Given the description of an element on the screen output the (x, y) to click on. 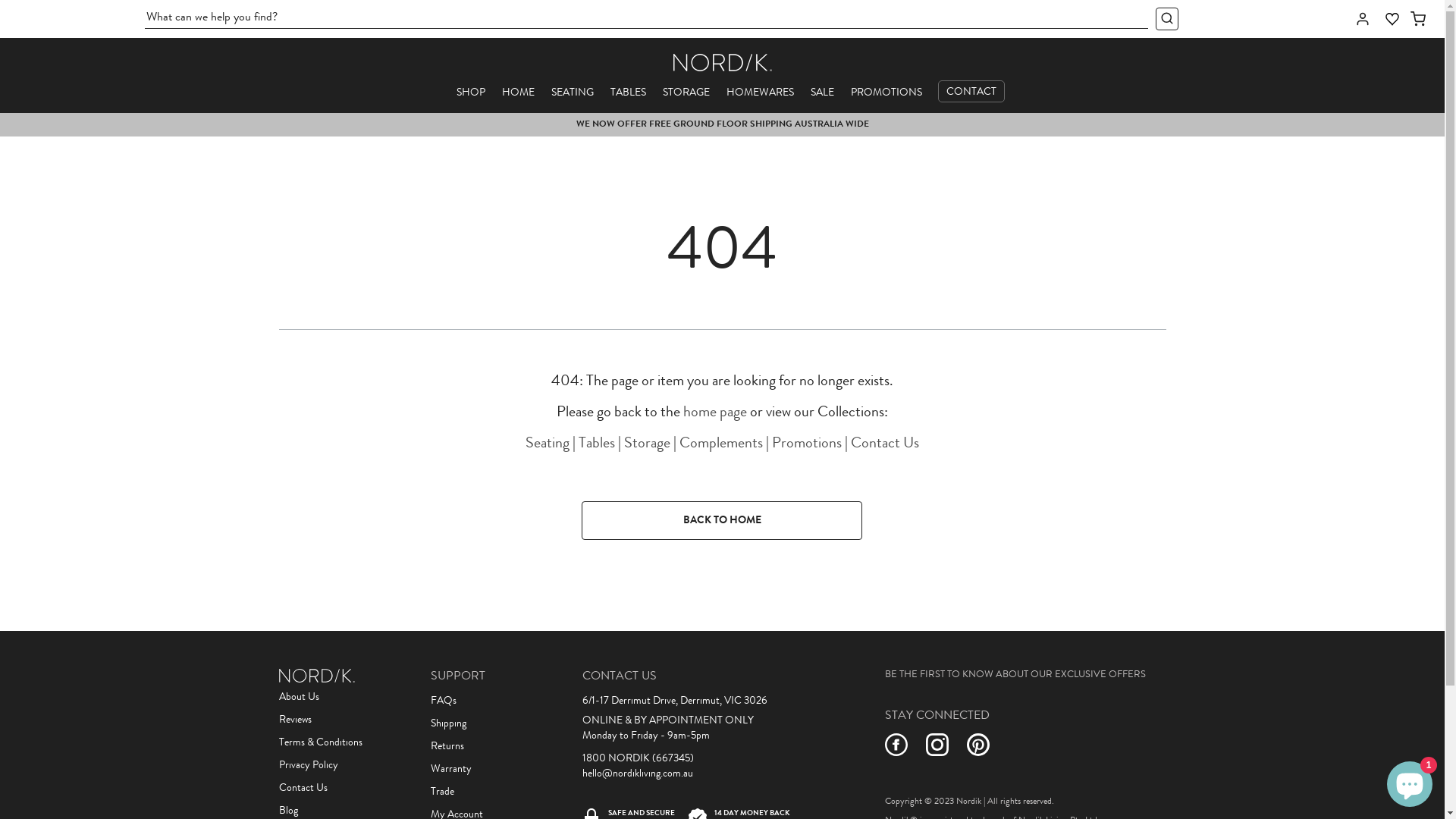
HOMEWARES Element type: text (759, 92)
CONTACT Element type: text (971, 91)
About Us Element type: text (299, 697)
Complements Element type: text (720, 443)
Contact Us Element type: text (884, 443)
View Shopping Cart Element type: hover (1418, 18)
TABLES Element type: text (627, 92)
Promotions Element type: text (806, 443)
hello@nordikliving.com.au Element type: text (637, 773)
Trade Element type: text (442, 792)
PROMOTIONS Element type: text (886, 92)
Returns Element type: text (447, 746)
BACK TO HOME Element type: text (721, 520)
Tables Element type: text (596, 443)
1800 NORDIK (667345) Element type: text (637, 758)
Wishlist Element type: text (1392, 18)
Blog Element type: text (288, 811)
SEATING Element type: text (571, 92)
SHOP Element type: text (470, 92)
SALE Element type: text (821, 92)
Shipping Element type: text (448, 723)
HOME Element type: text (518, 92)
Shopify online store chat Element type: hover (1409, 780)
Contact Us Element type: text (303, 788)
FAQs Element type: text (443, 701)
My Account Element type: hover (1362, 18)
STORAGE Element type: text (685, 92)
Reviews Element type: text (295, 720)
Storage Element type: text (647, 443)
home page Element type: text (714, 412)
Terms & Conditions Element type: text (320, 742)
Warranty Element type: text (450, 769)
Privacy Policy Element type: text (308, 765)
Seating Element type: text (547, 443)
